Given the description of an element on the screen output the (x, y) to click on. 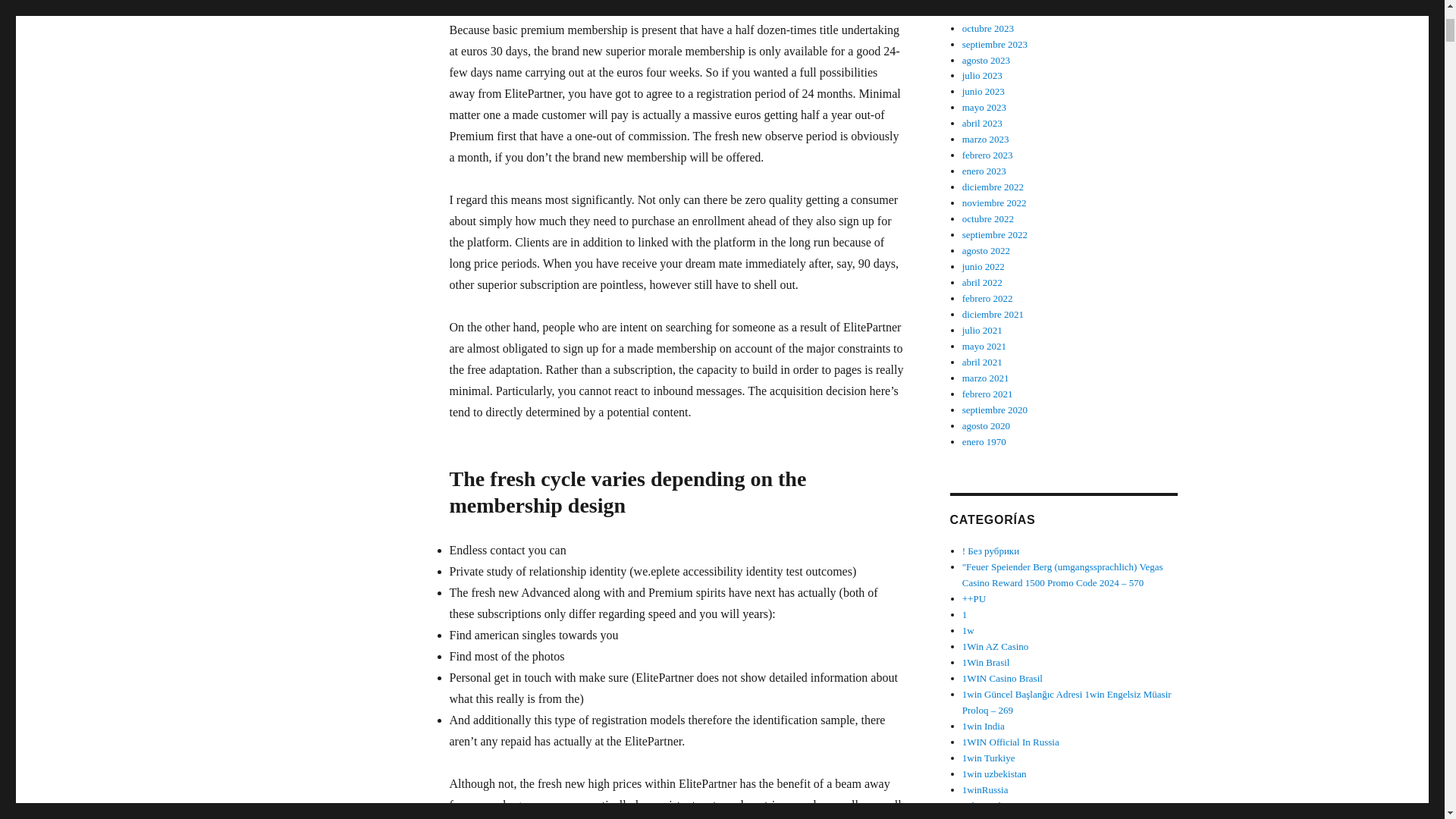
febrero 2023 (987, 154)
octubre 2022 (987, 218)
mayo 2023 (984, 107)
noviembre 2022 (994, 202)
septiembre 2023 (994, 43)
septiembre 2022 (994, 234)
abril 2023 (982, 122)
octubre 2023 (987, 28)
diciembre 2022 (992, 186)
junio 2023 (983, 91)
